Given the description of an element on the screen output the (x, y) to click on. 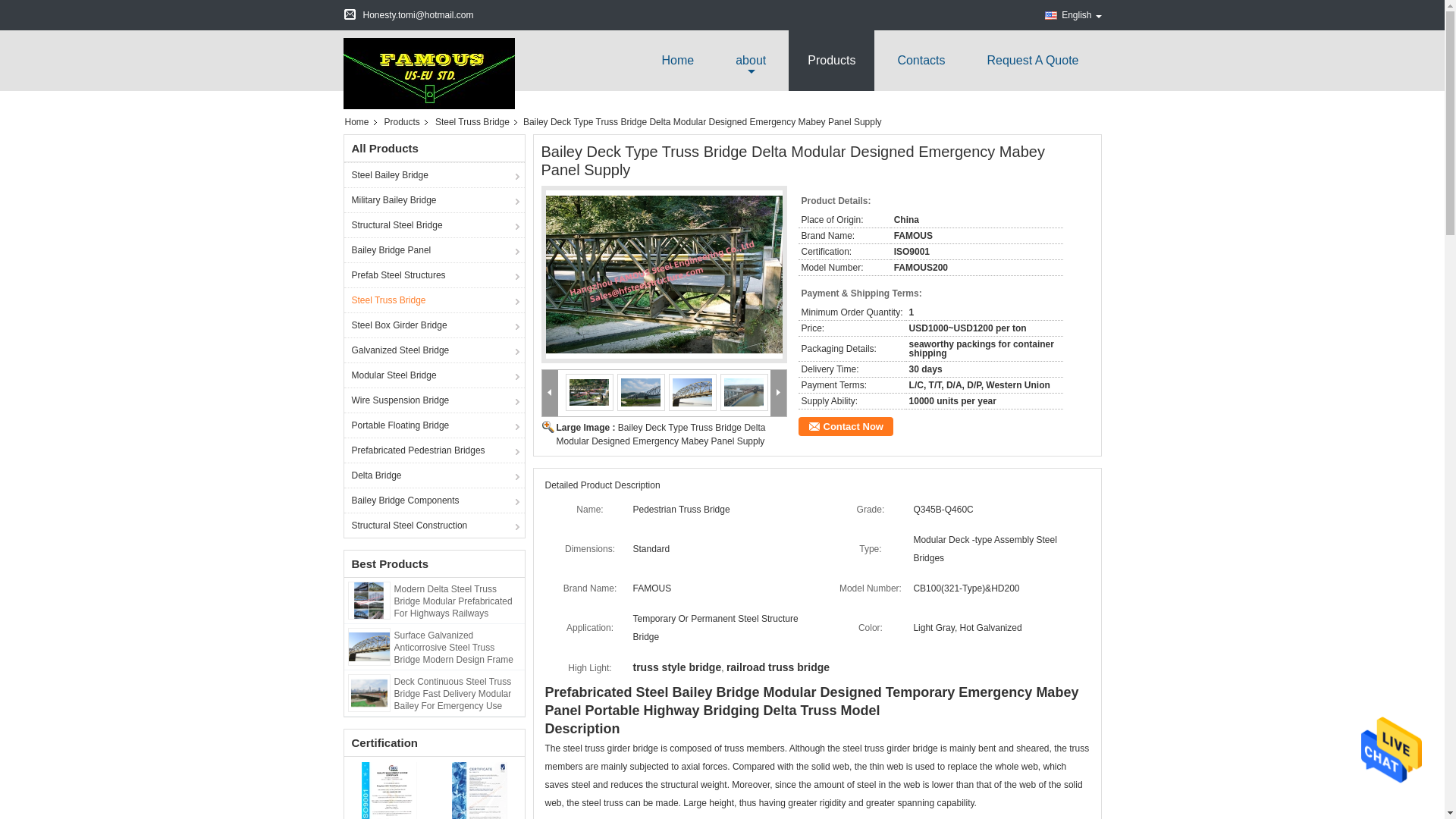
Bailey Bridge Components (433, 499)
Modular Steel Bridge (433, 374)
Products (403, 122)
Products (832, 60)
Portable Floating Bridge (433, 424)
Prefab Steel Structures (433, 274)
Delta Bridge (433, 474)
Steel Truss Bridge (473, 122)
English (1072, 14)
Request A Quote (1032, 60)
